Given the description of an element on the screen output the (x, y) to click on. 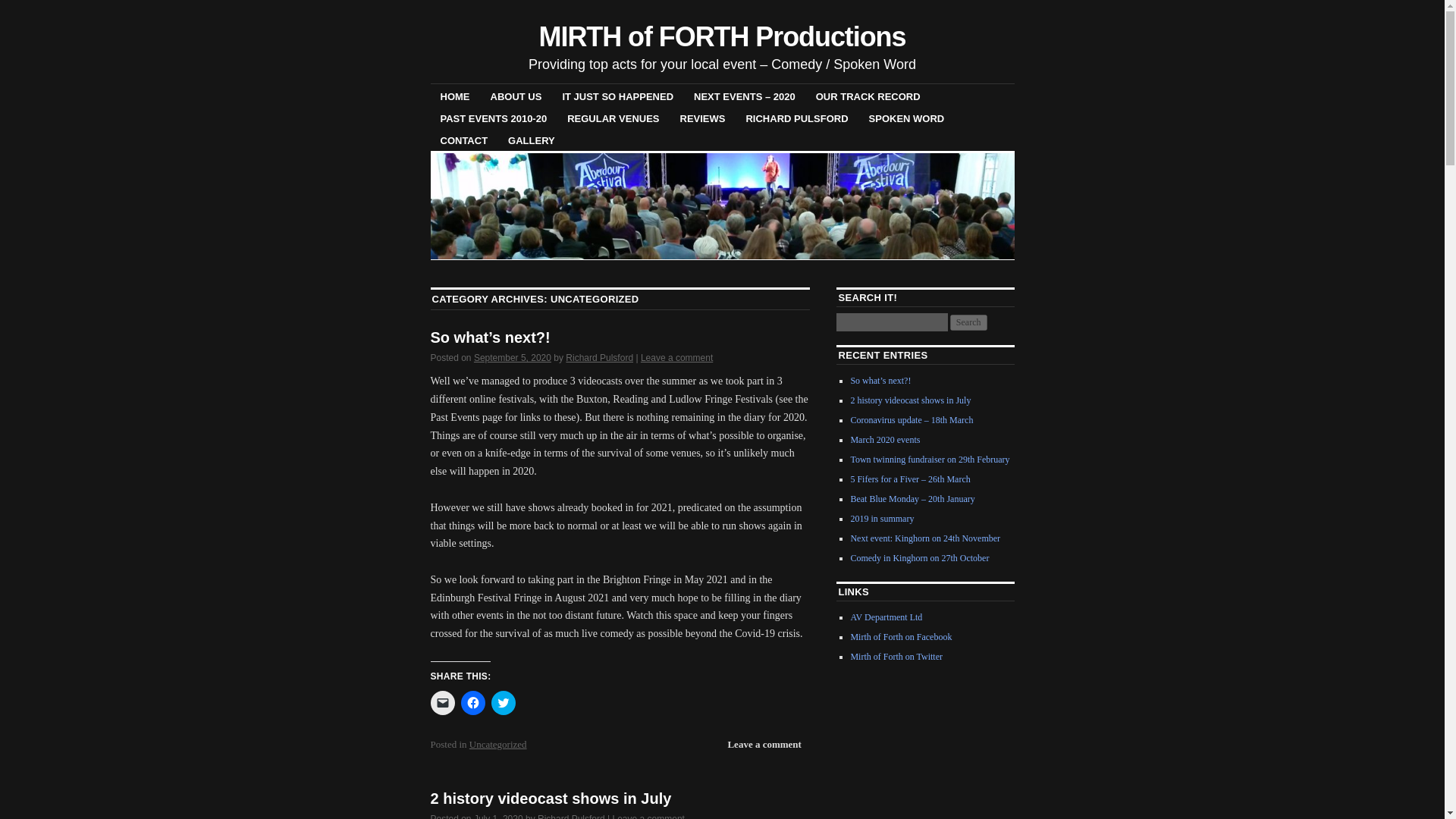
MIRTH of FORTH Productions (721, 36)
Click to share on Twitter (503, 702)
Richard Pulsford (599, 357)
10:40 am (512, 357)
MIRTH of FORTH Productions (721, 36)
OUR TRACK RECORD (868, 96)
IT JUST SO HAPPENED (616, 96)
September 5, 2020 (512, 357)
HOME (455, 96)
SPOKEN WORD (907, 117)
Click to email a link to a friend (442, 702)
REGULAR VENUES (612, 117)
8:49 pm (498, 816)
ABOUT US (515, 96)
REVIEWS (702, 117)
